Given the description of an element on the screen output the (x, y) to click on. 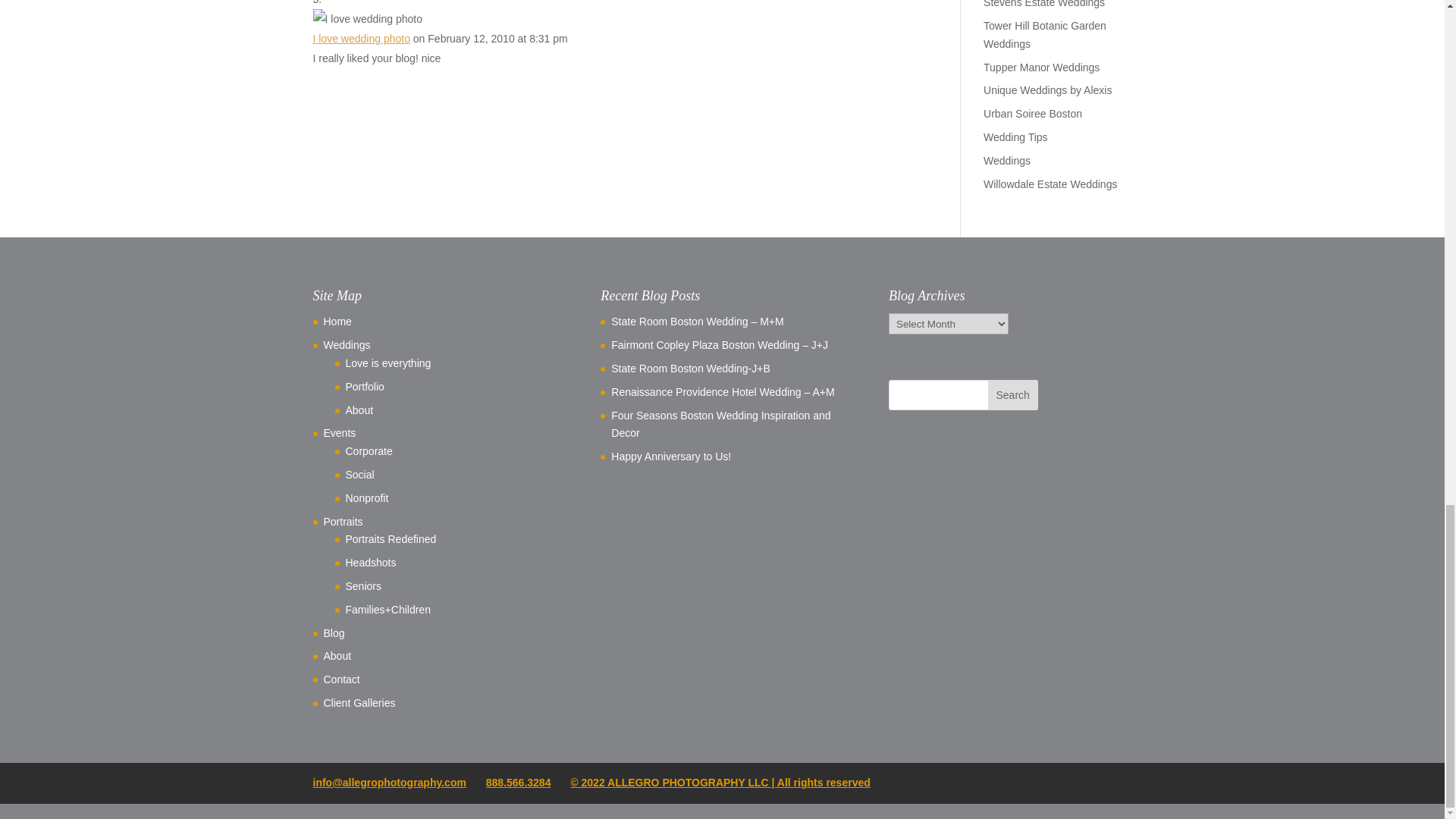
Give us a call (518, 782)
I love wedding photo (361, 38)
Weddings (346, 345)
Send us an email (389, 782)
Search (1013, 395)
Home (336, 321)
